Given the description of an element on the screen output the (x, y) to click on. 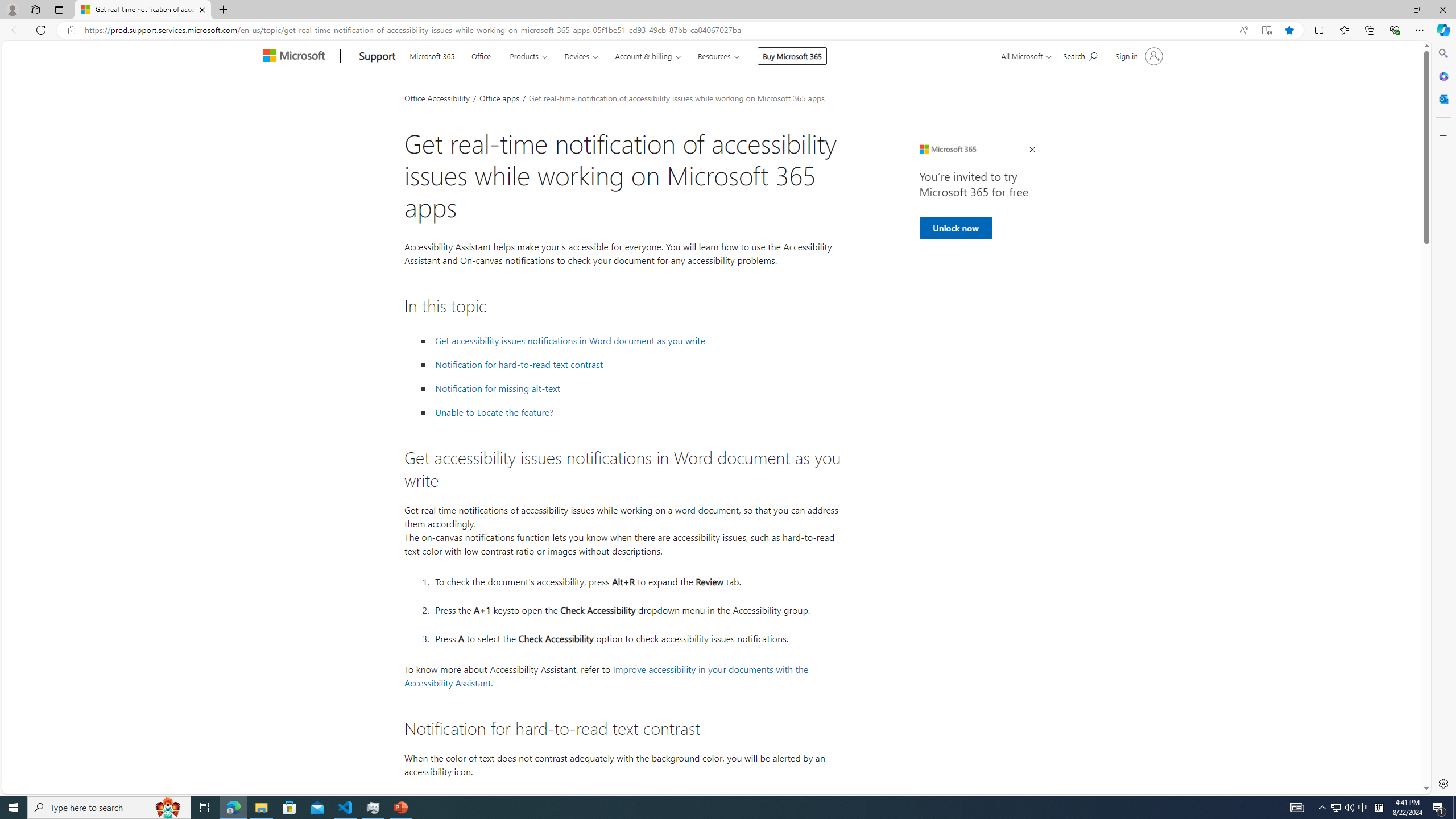
Close tab (202, 9)
Back (13, 29)
Unable to Locate the feature? (635, 412)
Close Ad (1031, 149)
Split screen (1318, 29)
App bar (728, 29)
Settings (1442, 783)
 Notification for missing alt-text (497, 388)
Buy Microsoft 365 (792, 55)
Tab actions menu (58, 9)
Search for help (1080, 54)
